Given the description of an element on the screen output the (x, y) to click on. 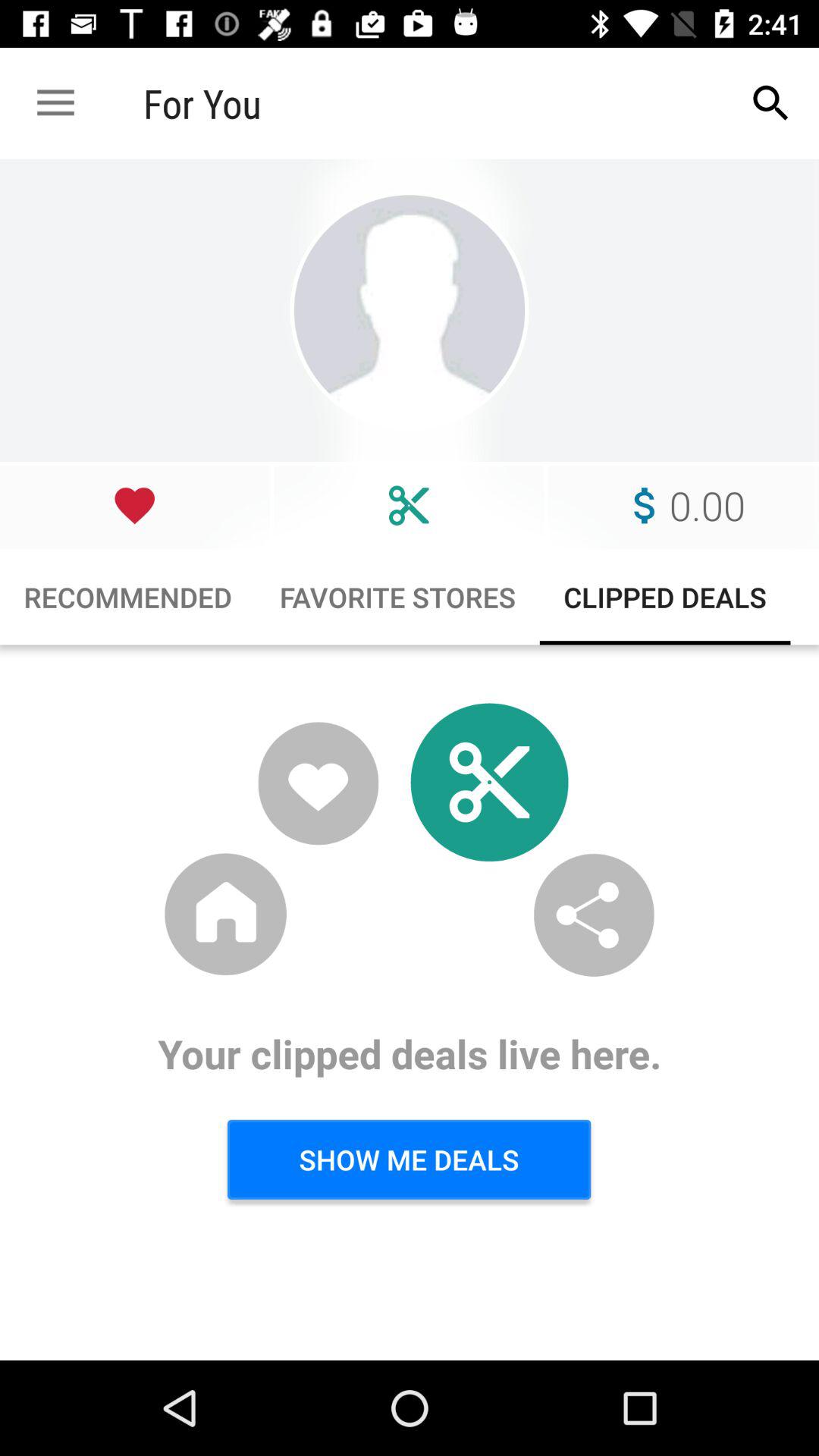
choose display picture (409, 310)
